Given the description of an element on the screen output the (x, y) to click on. 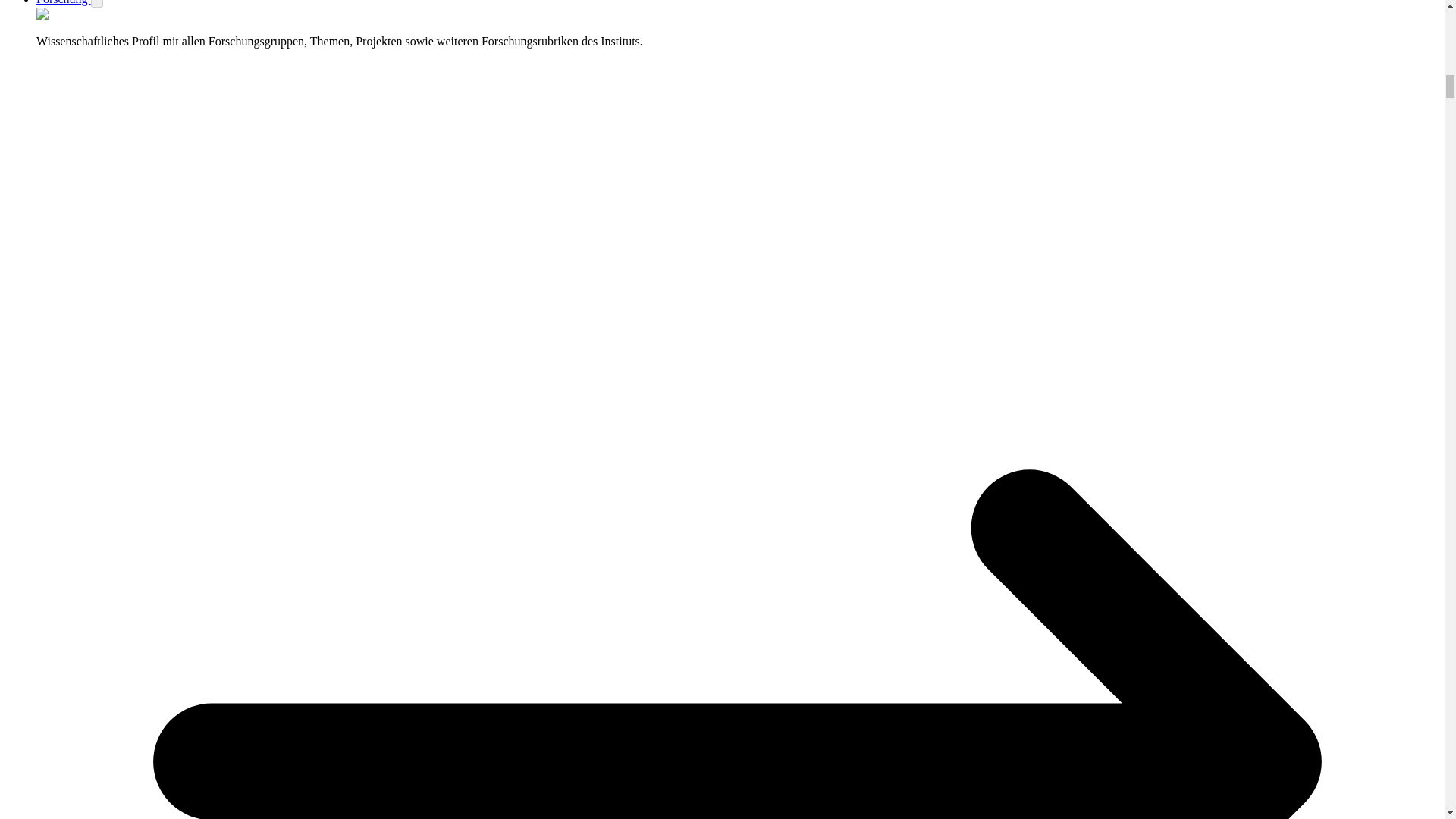
Forschung (63, 2)
Forschung (63, 2)
